Given the description of an element on the screen output the (x, y) to click on. 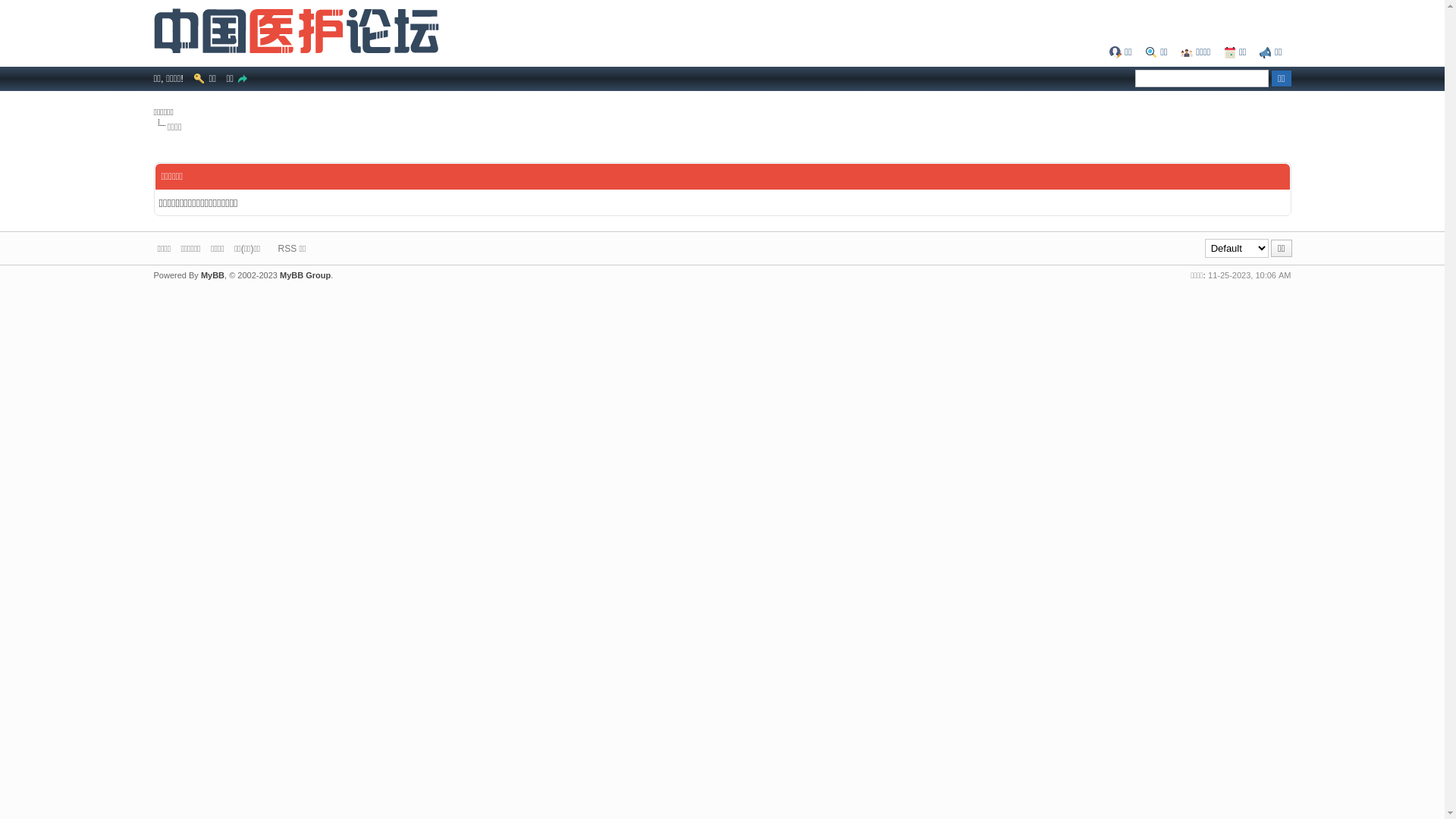
MyBB Group Element type: text (304, 274)
MyBB Element type: text (212, 274)
